Given the description of an element on the screen output the (x, y) to click on. 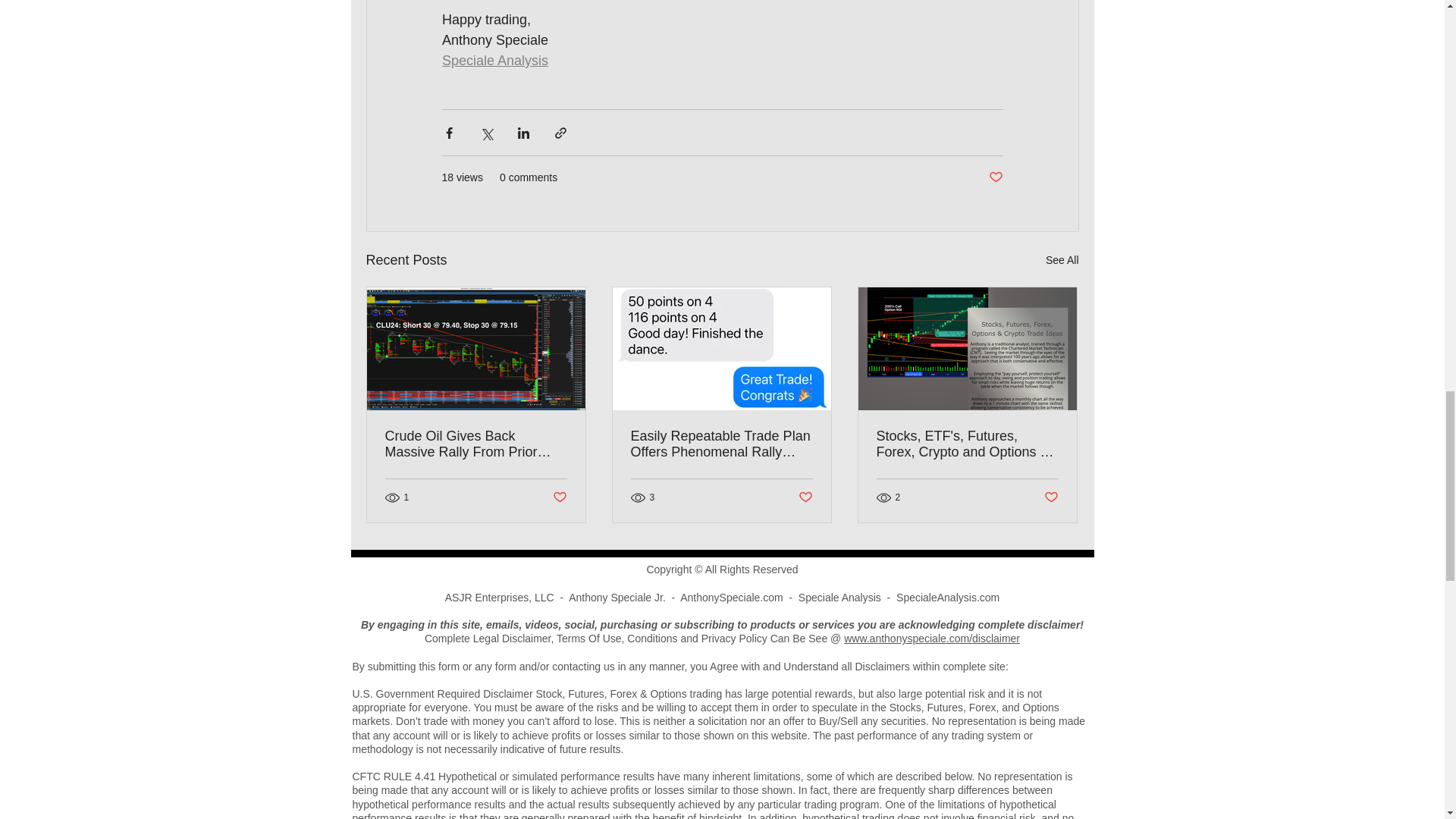
Post not marked as liked (804, 497)
Post not marked as liked (995, 177)
Speciale Analysis (494, 60)
See All (1061, 260)
Post not marked as liked (558, 497)
Post not marked as liked (1050, 497)
Crude Oil Gives Back Massive Rally From Prior Session (476, 444)
